Given the description of an element on the screen output the (x, y) to click on. 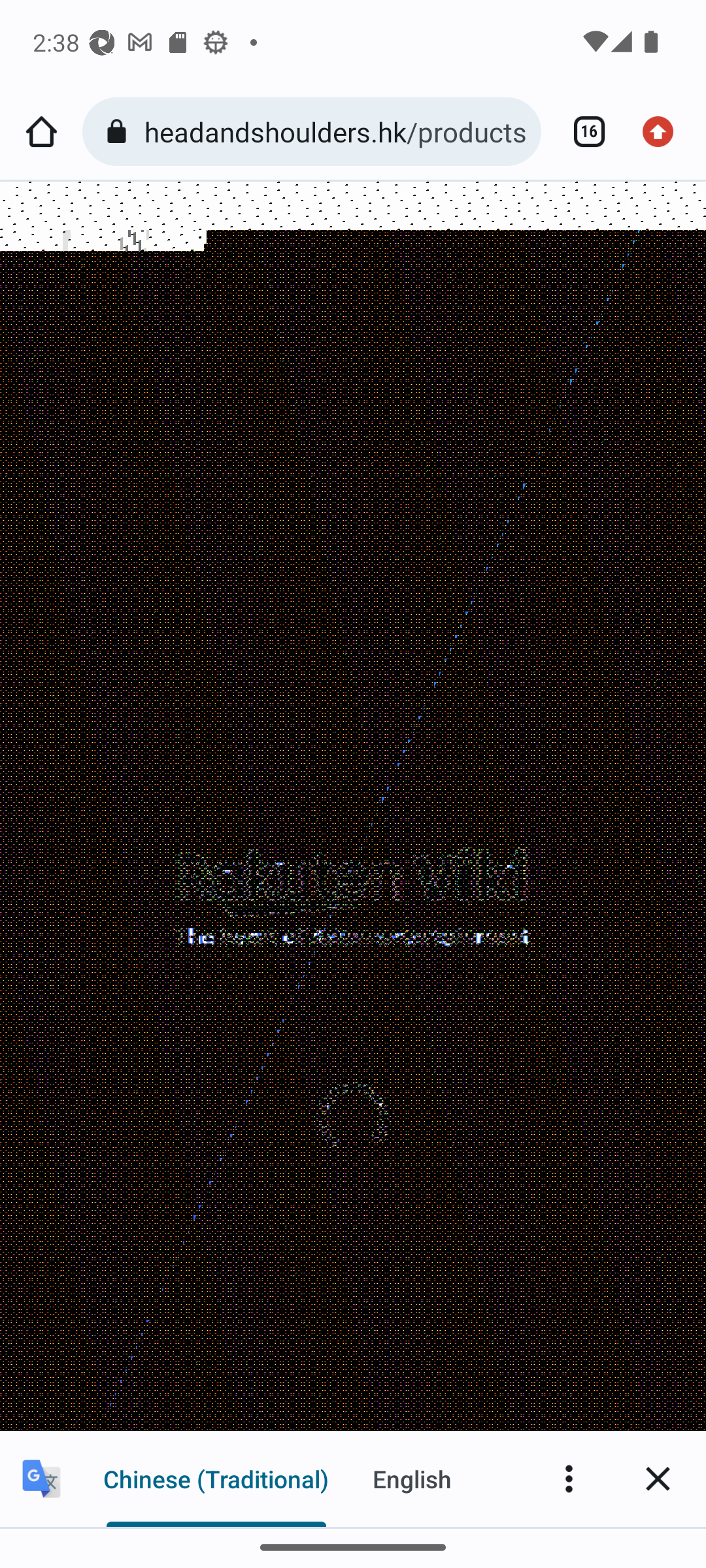
Home (41, 131)
Connection is secure (120, 131)
Switch or close tabs (582, 131)
Update available. More options (664, 131)
English (411, 1478)
More options (568, 1478)
Close (657, 1478)
